Given the description of an element on the screen output the (x, y) to click on. 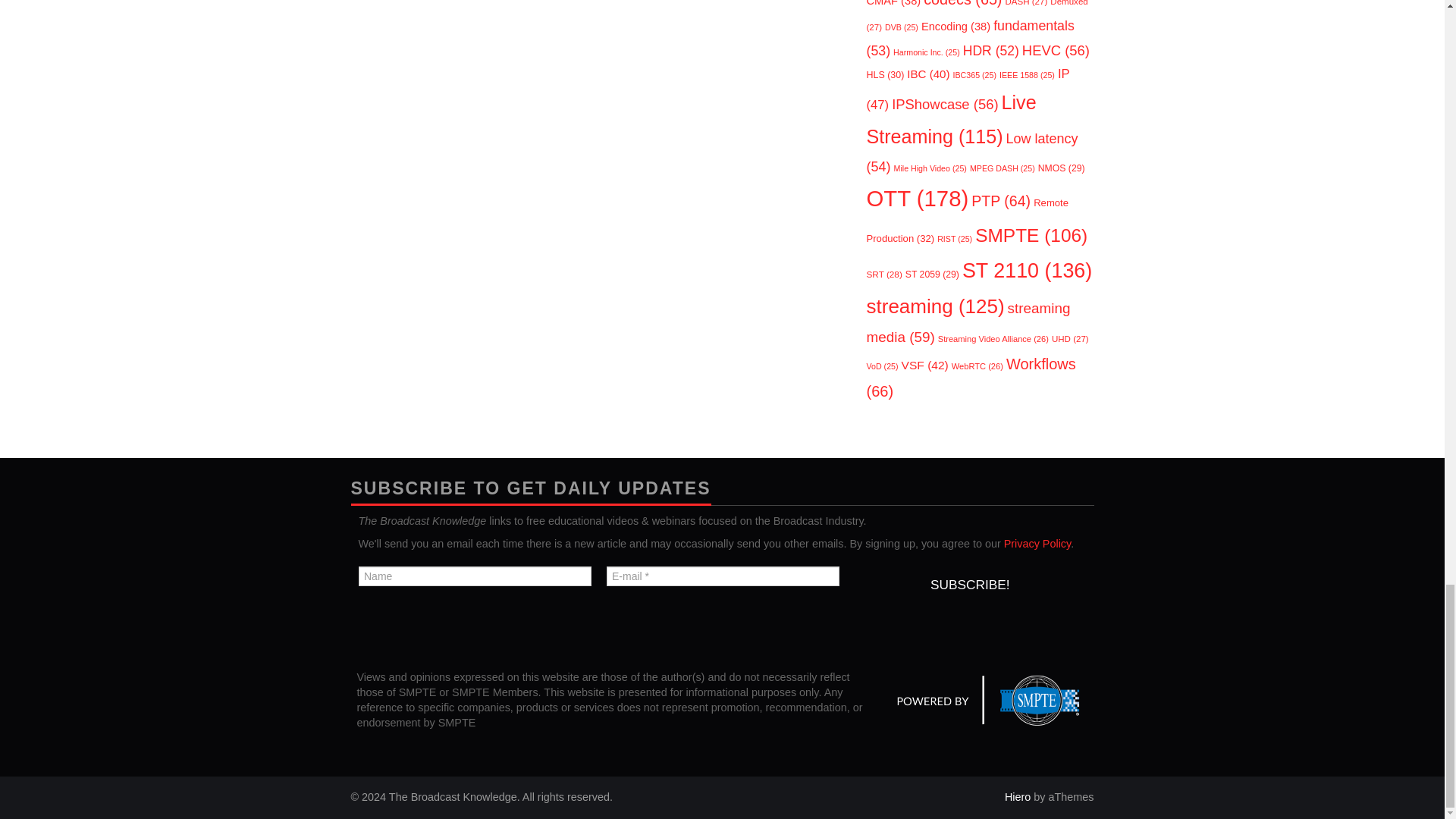
Name (474, 576)
Subscribe! (969, 584)
E-mail (721, 576)
